Given the description of an element on the screen output the (x, y) to click on. 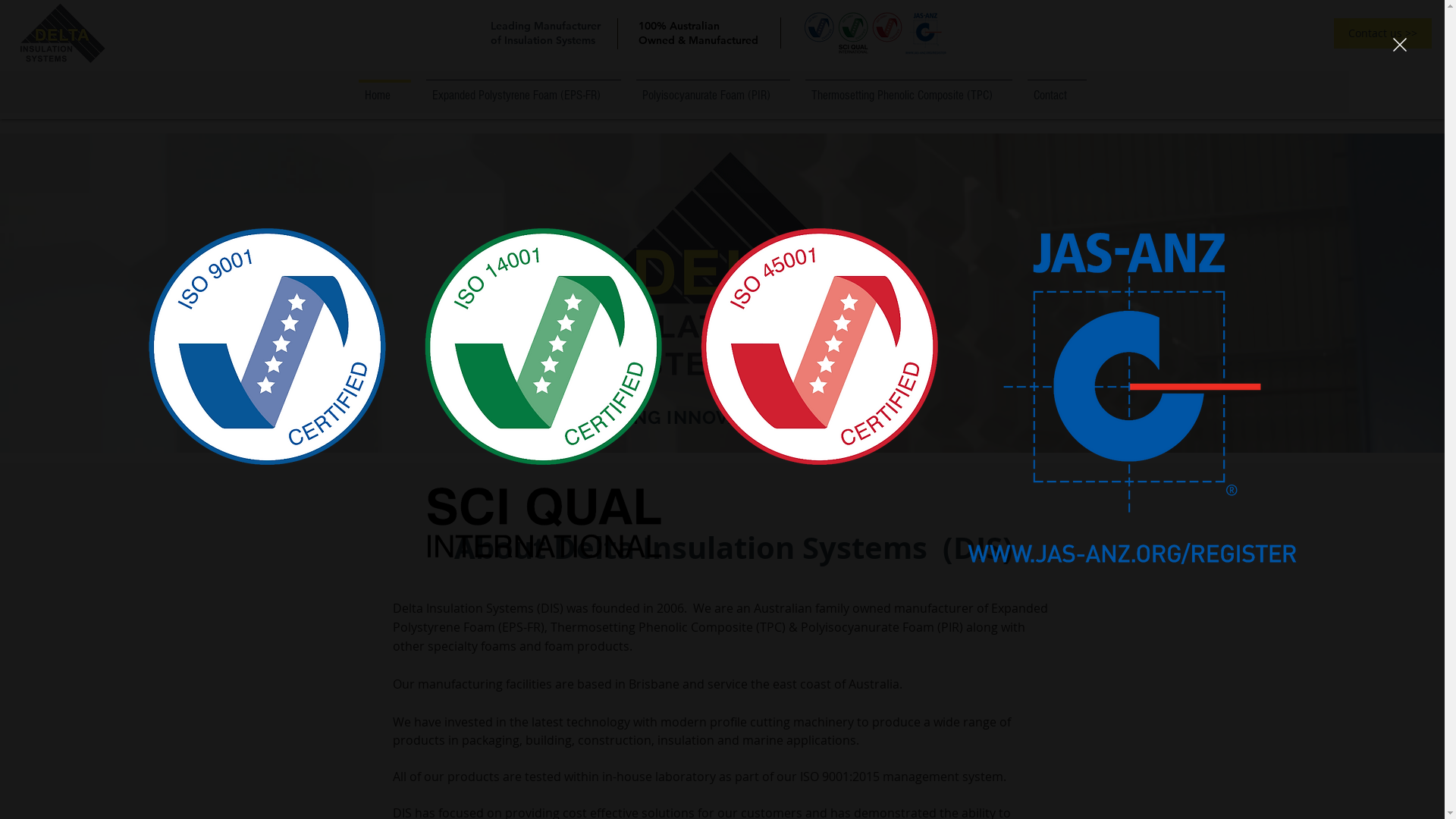
Home Element type: text (383, 88)
Contact Element type: text (1056, 88)
Thermosetting Phenolic Composite (TPC) Element type: text (908, 88)
Polyisocyanurate Foam (PIR) Element type: text (712, 88)
Contact us >> Element type: text (1382, 33)
